Given the description of an element on the screen output the (x, y) to click on. 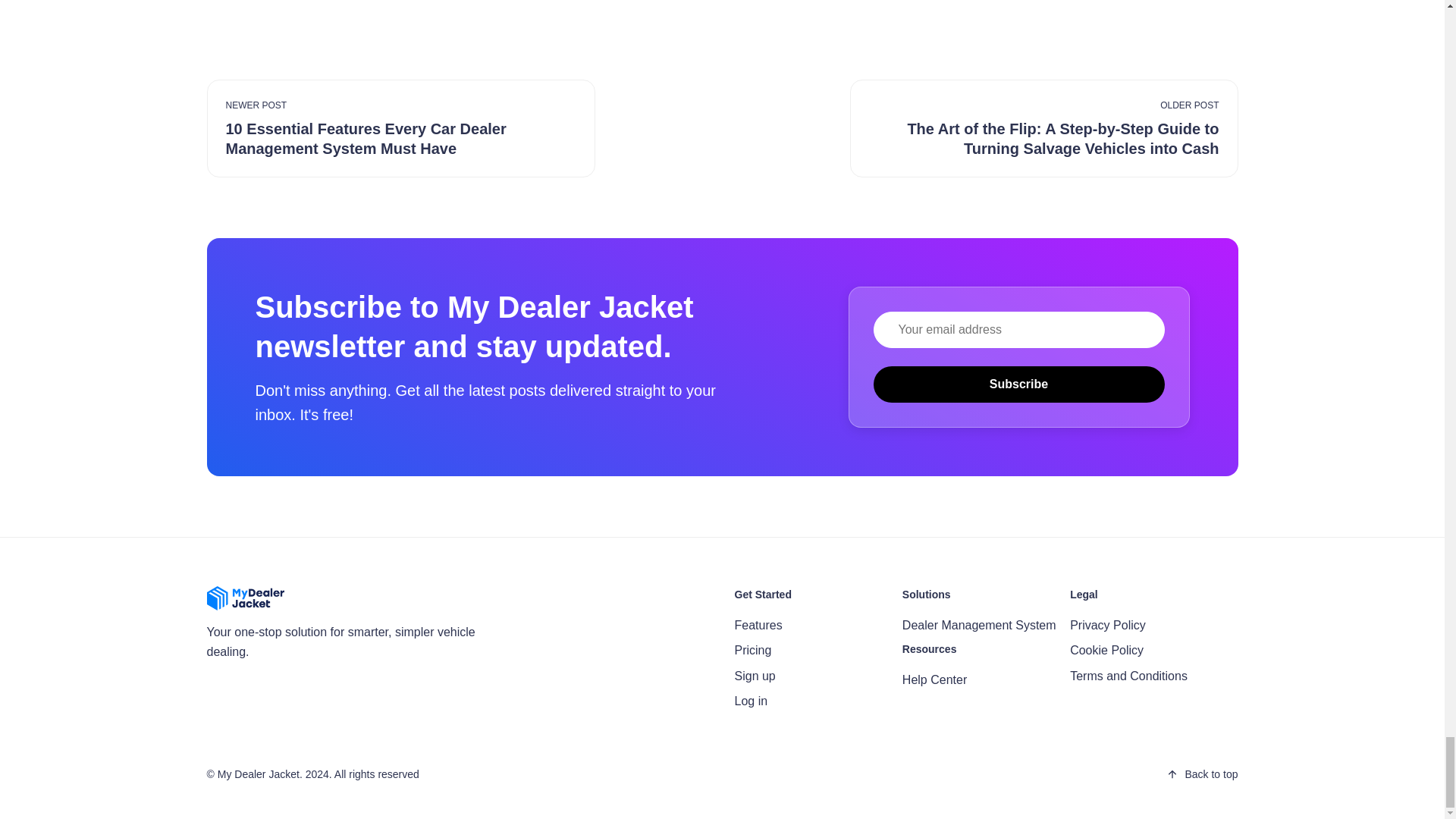
My Dealer Jacket (257, 774)
Features (757, 625)
Back to top (1201, 773)
Sign up (753, 675)
Dealer Management System (979, 625)
Subscribe (1018, 384)
Pricing (752, 649)
Terms and Conditions (1129, 675)
